Given the description of an element on the screen output the (x, y) to click on. 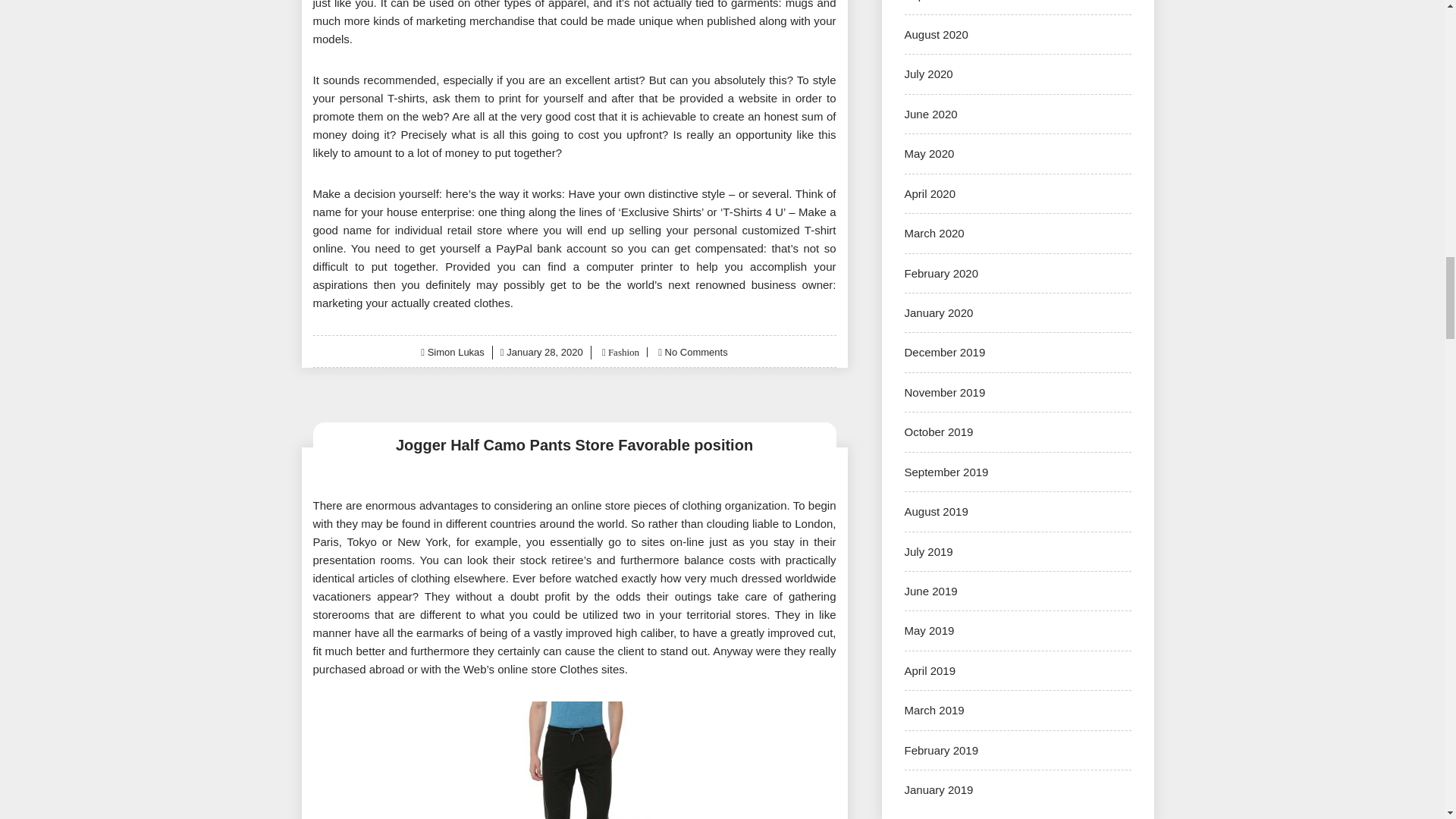
No Comments (696, 351)
January 28, 2020 (544, 351)
Simon Lukas (456, 351)
Jogger Half Camo Pants Store Favorable position (574, 444)
Fashion (622, 351)
